Given the description of an element on the screen output the (x, y) to click on. 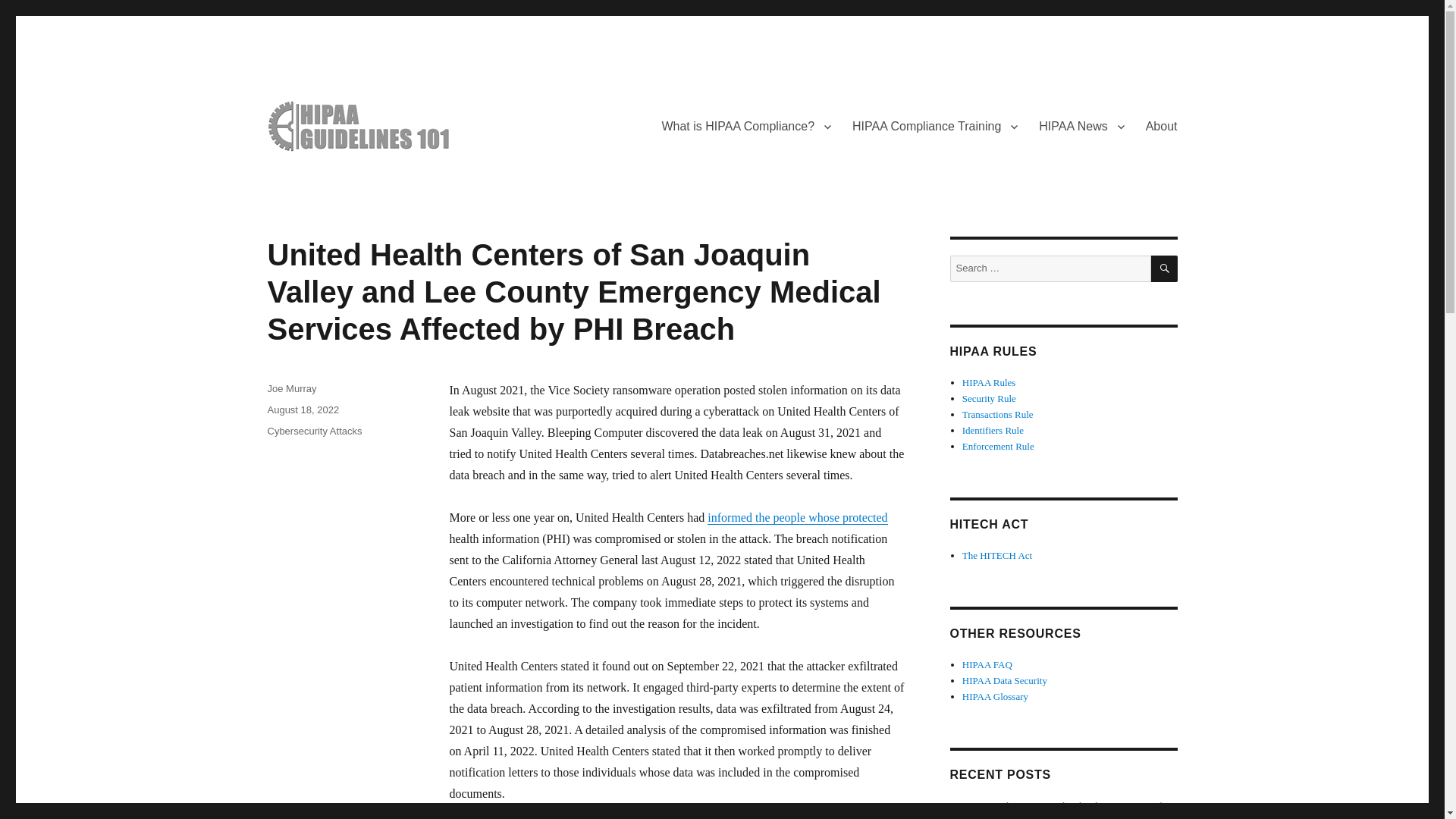
Transactions Rule (997, 414)
What is HIPAA Compliance? (745, 126)
HIPAA 101 (319, 175)
Enforcement Rule (997, 446)
About (1161, 126)
The HITECH Act (997, 555)
RansomHub Group Attacks Florida Department of Health Data (1061, 809)
Cybersecurity Attacks (313, 430)
Security Rule (989, 398)
SEARCH (1164, 268)
